Given the description of an element on the screen output the (x, y) to click on. 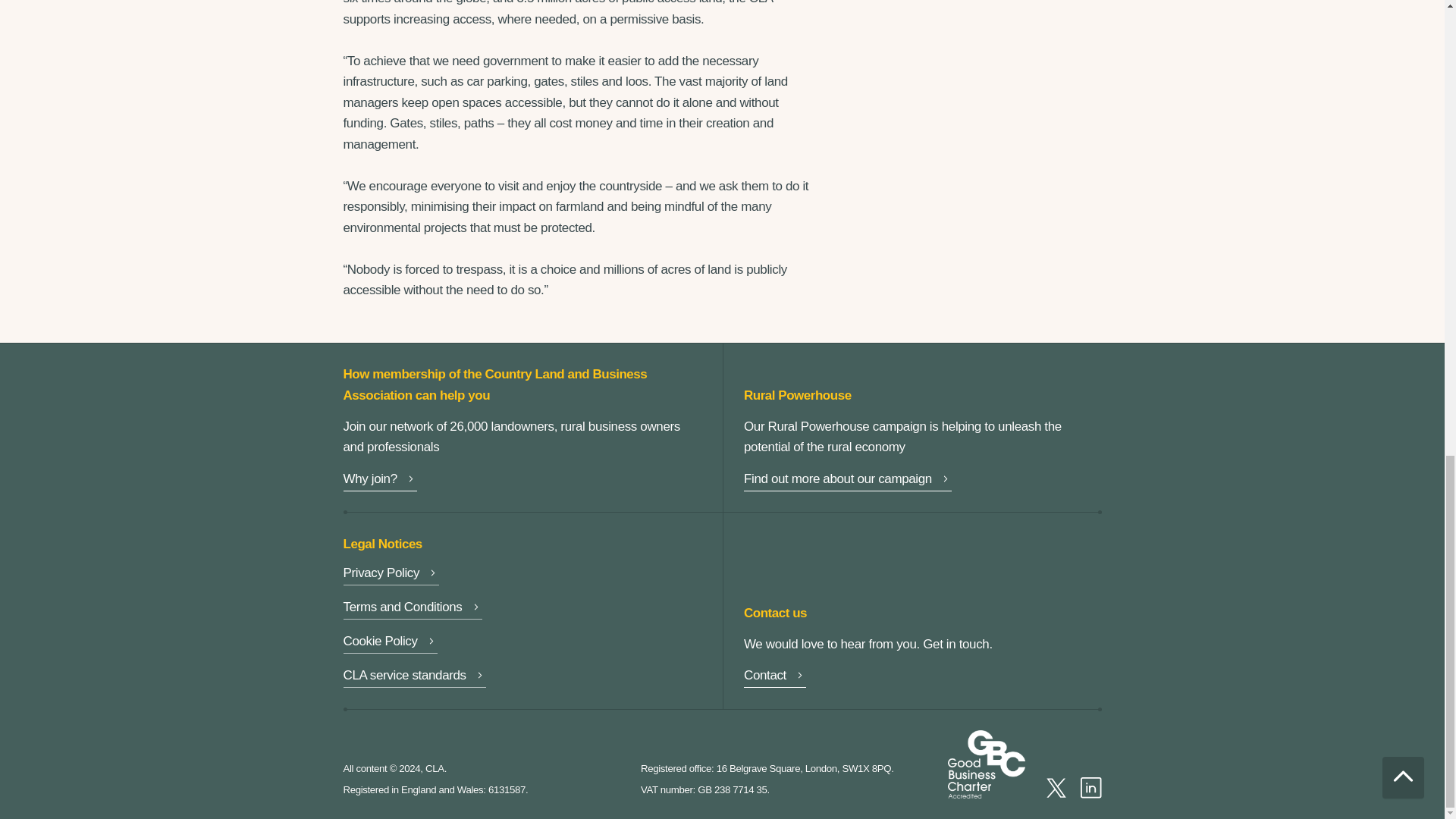
CLA service standards (413, 677)
Contact (775, 677)
Find out more about our campaign (848, 480)
Terms and Conditions (411, 608)
Cookie Policy (389, 643)
Privacy Policy (390, 575)
Why join? (379, 480)
